Given the description of an element on the screen output the (x, y) to click on. 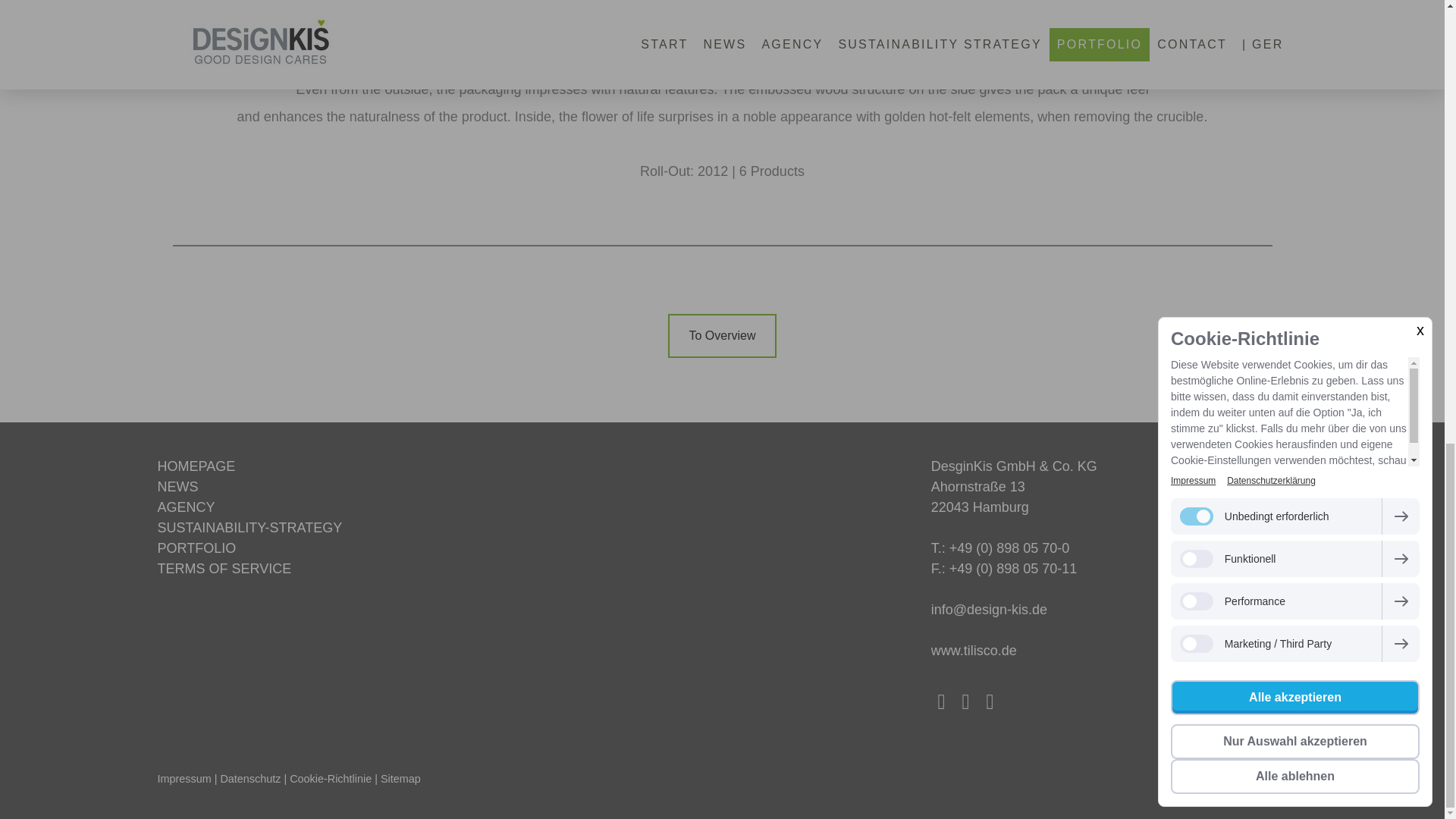
HOMEPAGE (196, 466)
Agency (186, 507)
Facebook (941, 701)
START (196, 466)
News (177, 486)
Sustainability strategy (249, 527)
To Overview (722, 335)
LinkedIn (965, 701)
Terms of Service (224, 568)
Portfolio (196, 548)
Xing (990, 701)
